Given the description of an element on the screen output the (x, y) to click on. 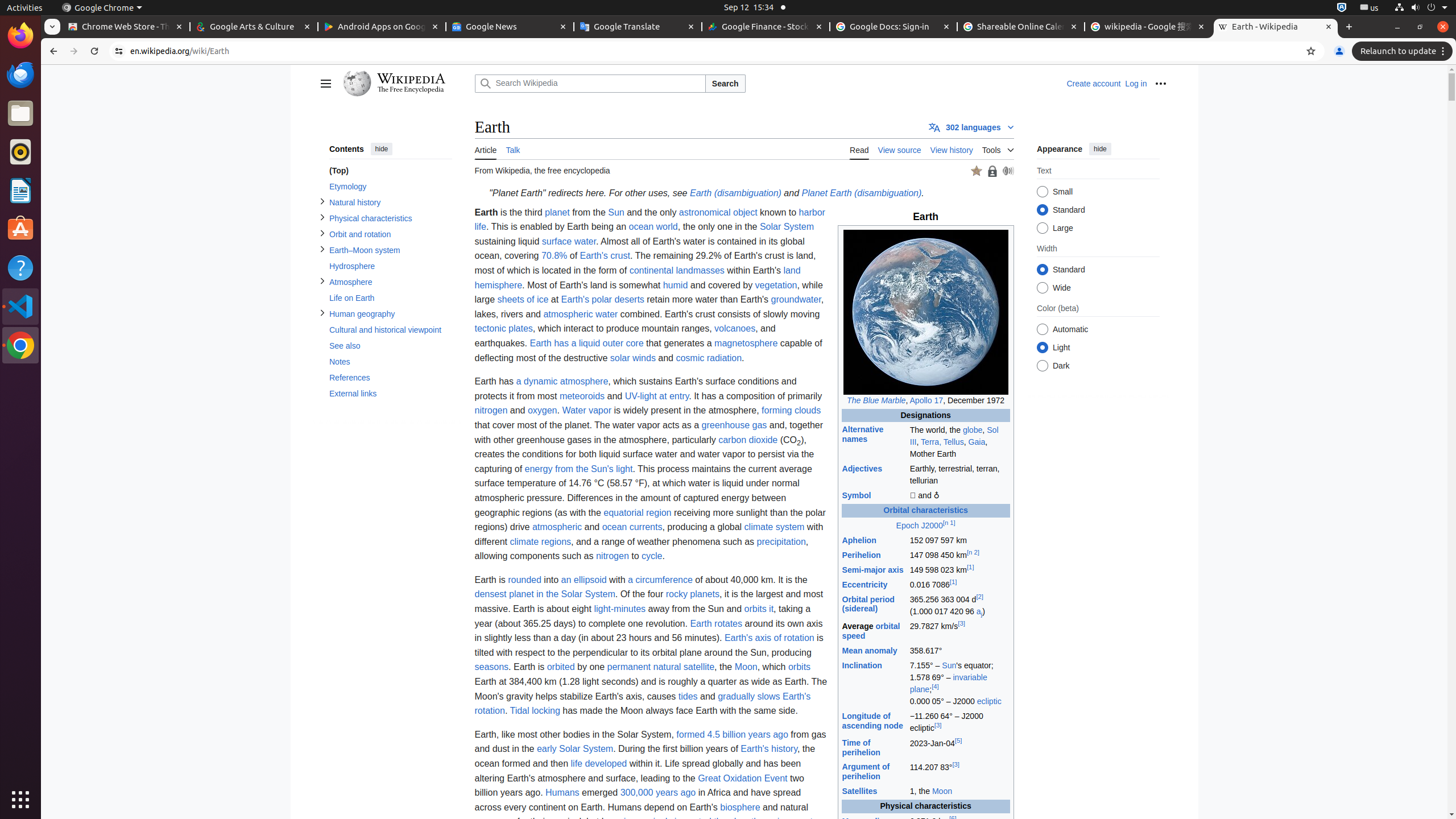
greenhouse gas Element type: link (734, 424)
Page semi-protected Element type: link (992, 170)
Large Element type: radio-button (1042, 228)
oxygen Element type: link (542, 410)
Great Oxidation Event Element type: link (742, 777)
